Given the description of an element on the screen output the (x, y) to click on. 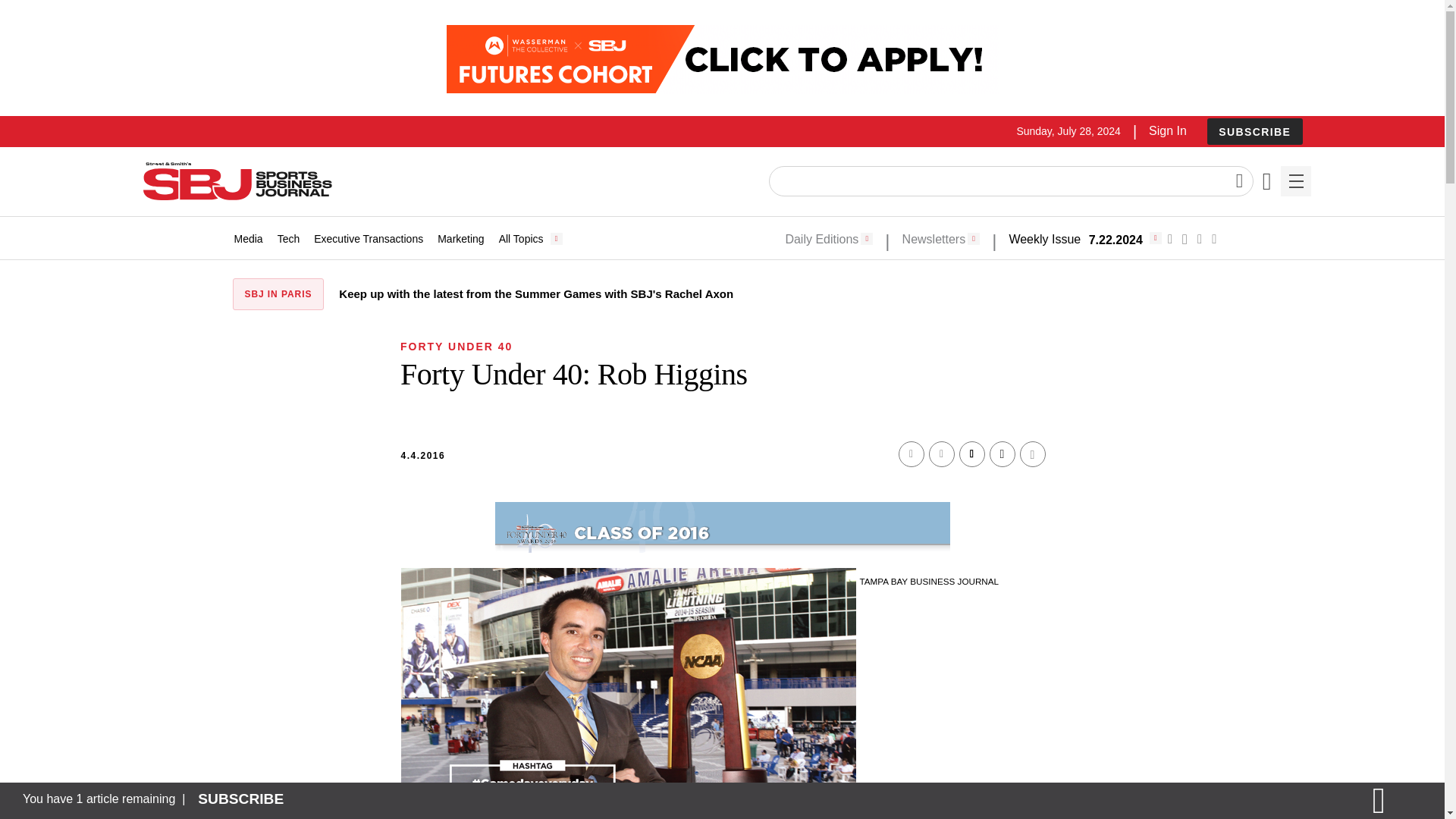
Menu (1294, 181)
SIGN IN (1194, 415)
3rd party ad content (721, 59)
Sign In (1167, 131)
SUBSCRIBE (1255, 130)
SUBSCRIBE (1254, 131)
